Given the description of an element on the screen output the (x, y) to click on. 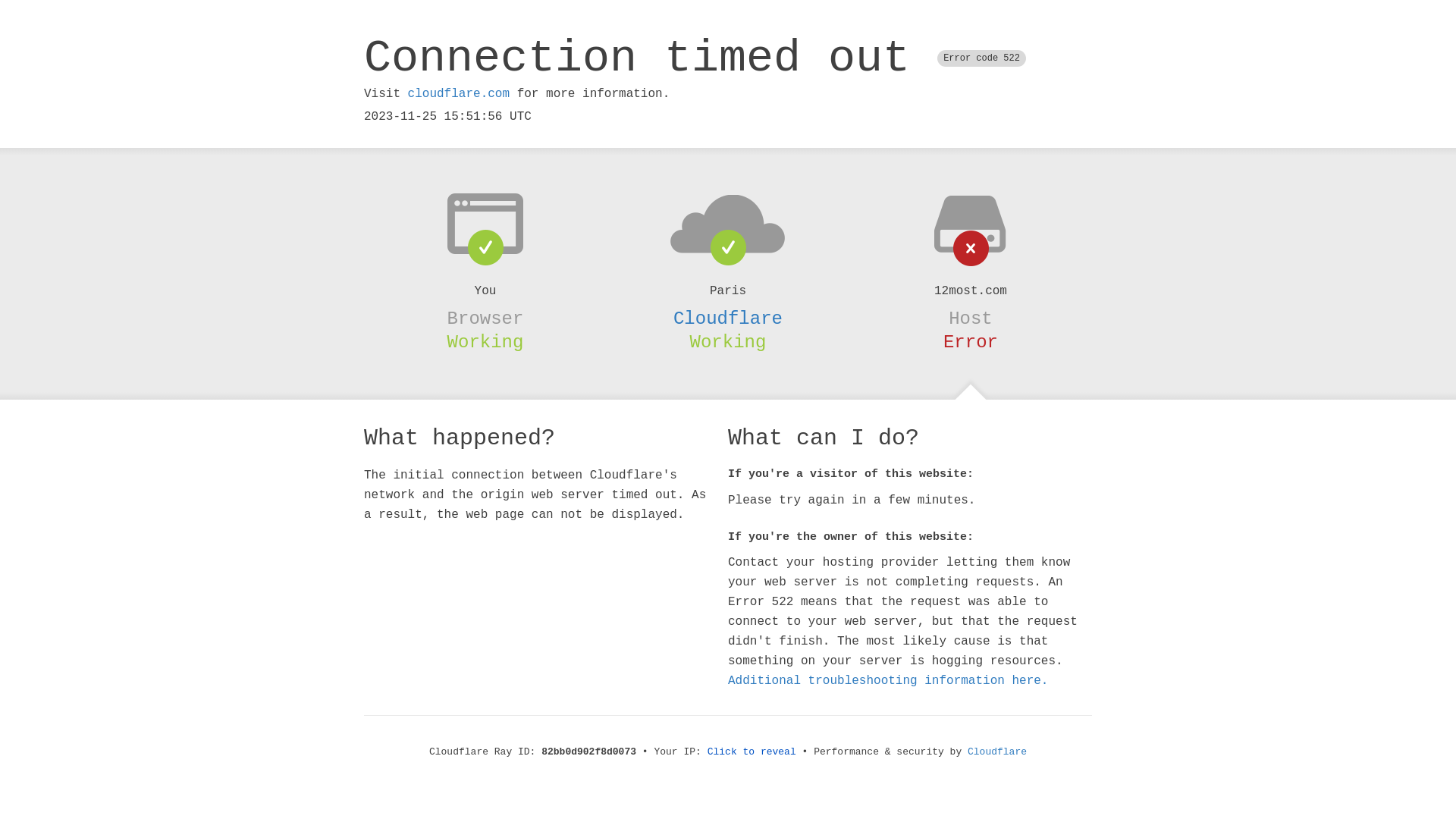
Cloudflare Element type: text (727, 318)
cloudflare.com Element type: text (458, 93)
Click to reveal Element type: text (751, 751)
Cloudflare Element type: text (996, 751)
Additional troubleshooting information here. Element type: text (888, 680)
